Given the description of an element on the screen output the (x, y) to click on. 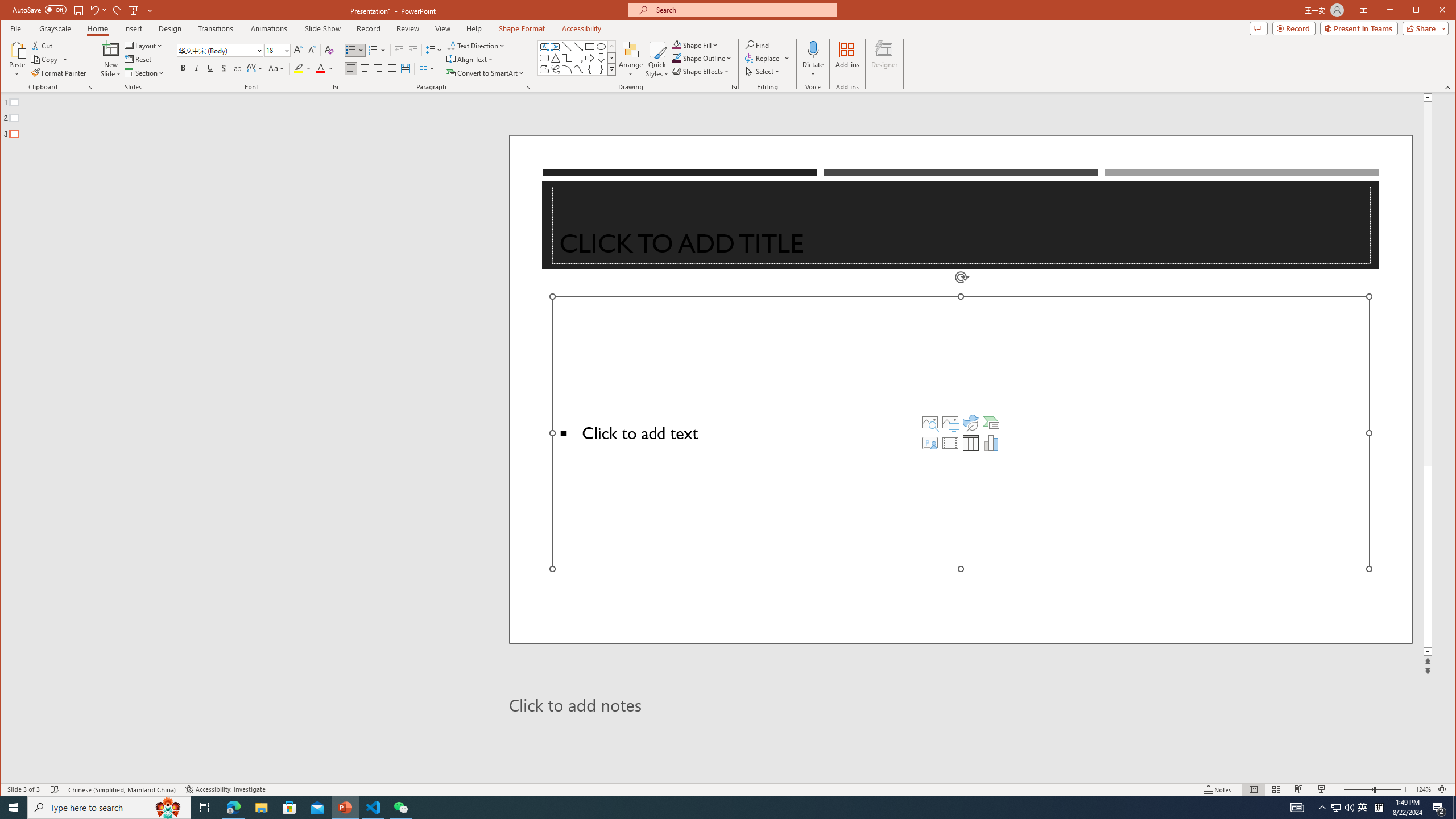
WeChat - 1 running window (400, 807)
